Given the description of an element on the screen output the (x, y) to click on. 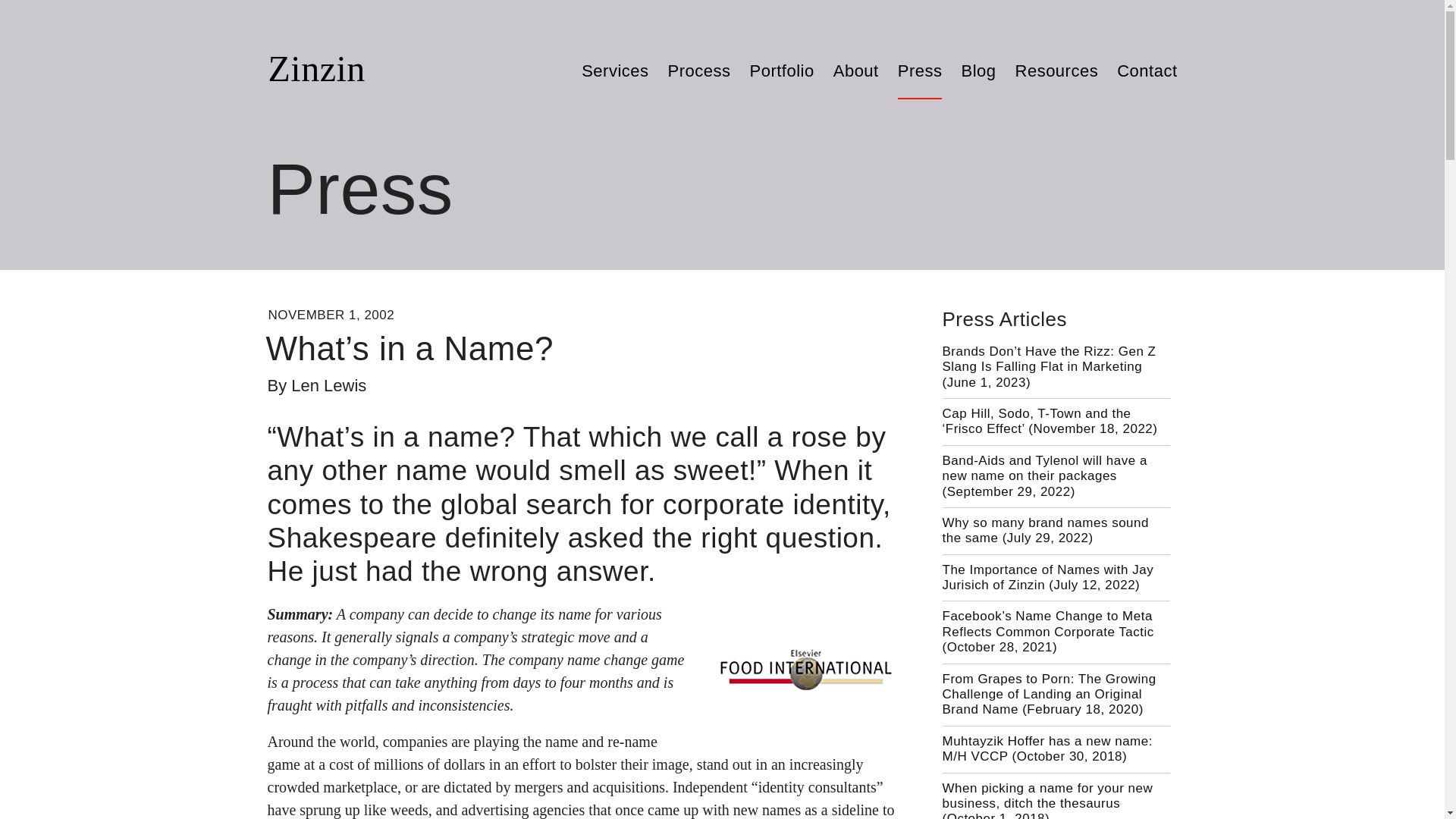
Zinzin (316, 68)
Portfolio (781, 72)
Services (613, 72)
Contact (1146, 72)
Resources (1056, 72)
Permalink to Why so many brand names sound the same (1045, 530)
